Given the description of an element on the screen output the (x, y) to click on. 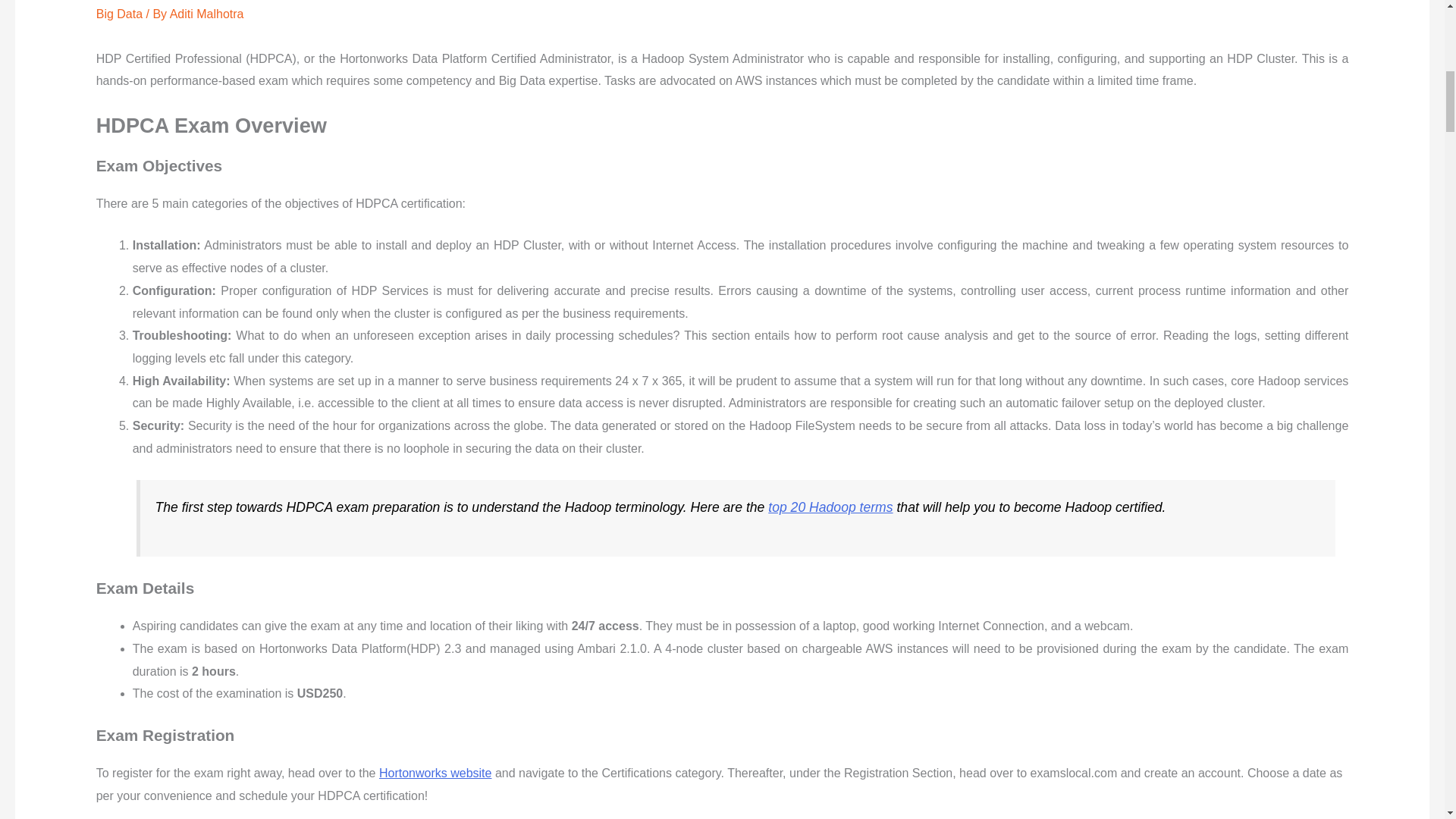
Hortonworks website (435, 772)
Big Data (119, 13)
Aditi Malhotra (207, 13)
View all posts by Aditi Malhotra (207, 13)
top 20 Hadoop terms (830, 507)
